Given the description of an element on the screen output the (x, y) to click on. 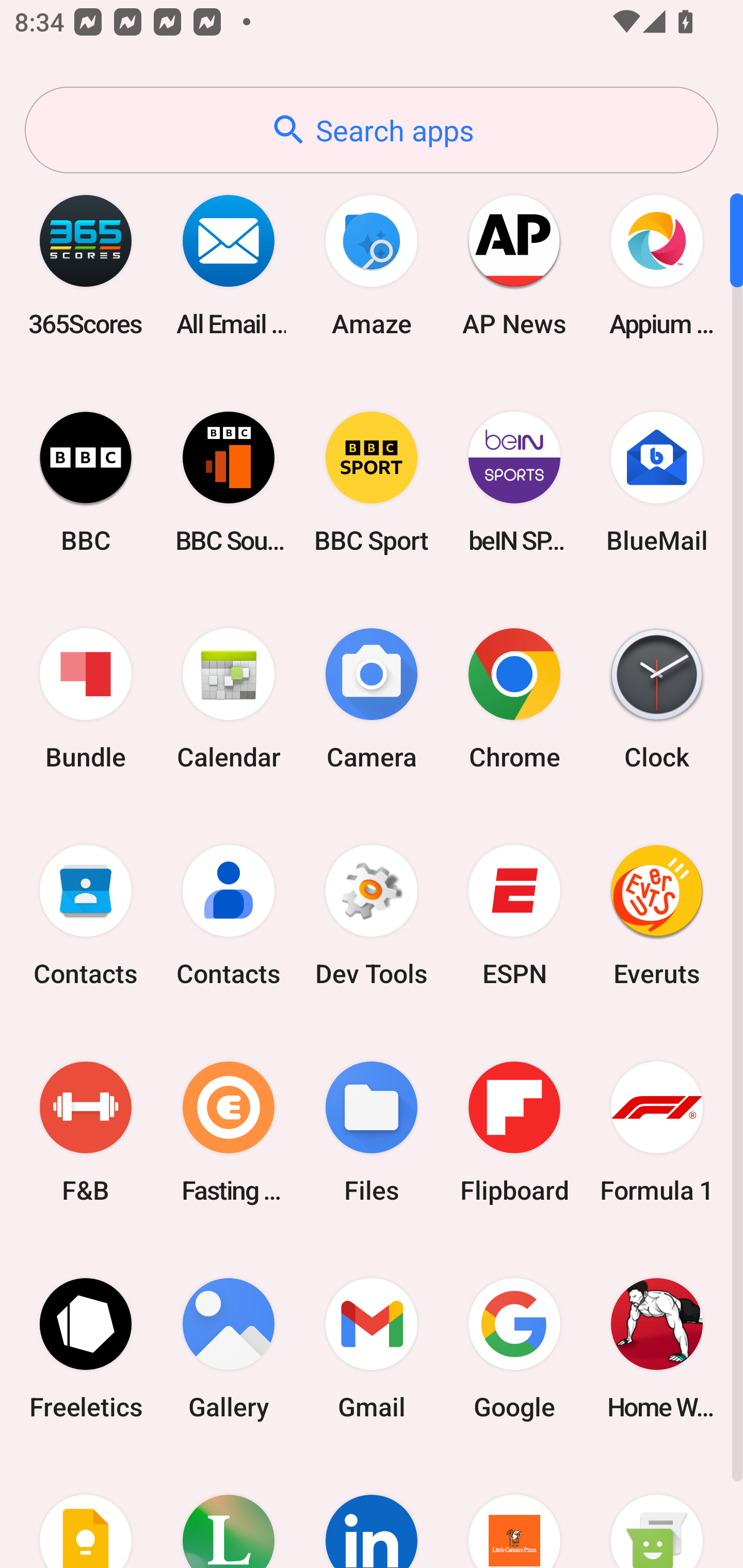
  Search apps (371, 130)
365Scores (85, 264)
All Email Connect (228, 264)
Amaze (371, 264)
AP News (514, 264)
Appium Settings (656, 264)
BBC (85, 482)
BBC Sounds (228, 482)
BBC Sport (371, 482)
beIN SPORTS (514, 482)
BlueMail (656, 482)
Bundle (85, 699)
Calendar (228, 699)
Camera (371, 699)
Chrome (514, 699)
Clock (656, 699)
Contacts (85, 915)
Contacts (228, 915)
Dev Tools (371, 915)
ESPN (514, 915)
Everuts (656, 915)
F&B (85, 1131)
Fasting Coach (228, 1131)
Files (371, 1131)
Flipboard (514, 1131)
Formula 1 (656, 1131)
Freeletics (85, 1348)
Gallery (228, 1348)
Gmail (371, 1348)
Google (514, 1348)
Home Workout (656, 1348)
Keep Notes (85, 1512)
Lifesum (228, 1512)
LinkedIn (371, 1512)
Little Caesars Pizza (514, 1512)
Messaging (656, 1512)
